Given the description of an element on the screen output the (x, y) to click on. 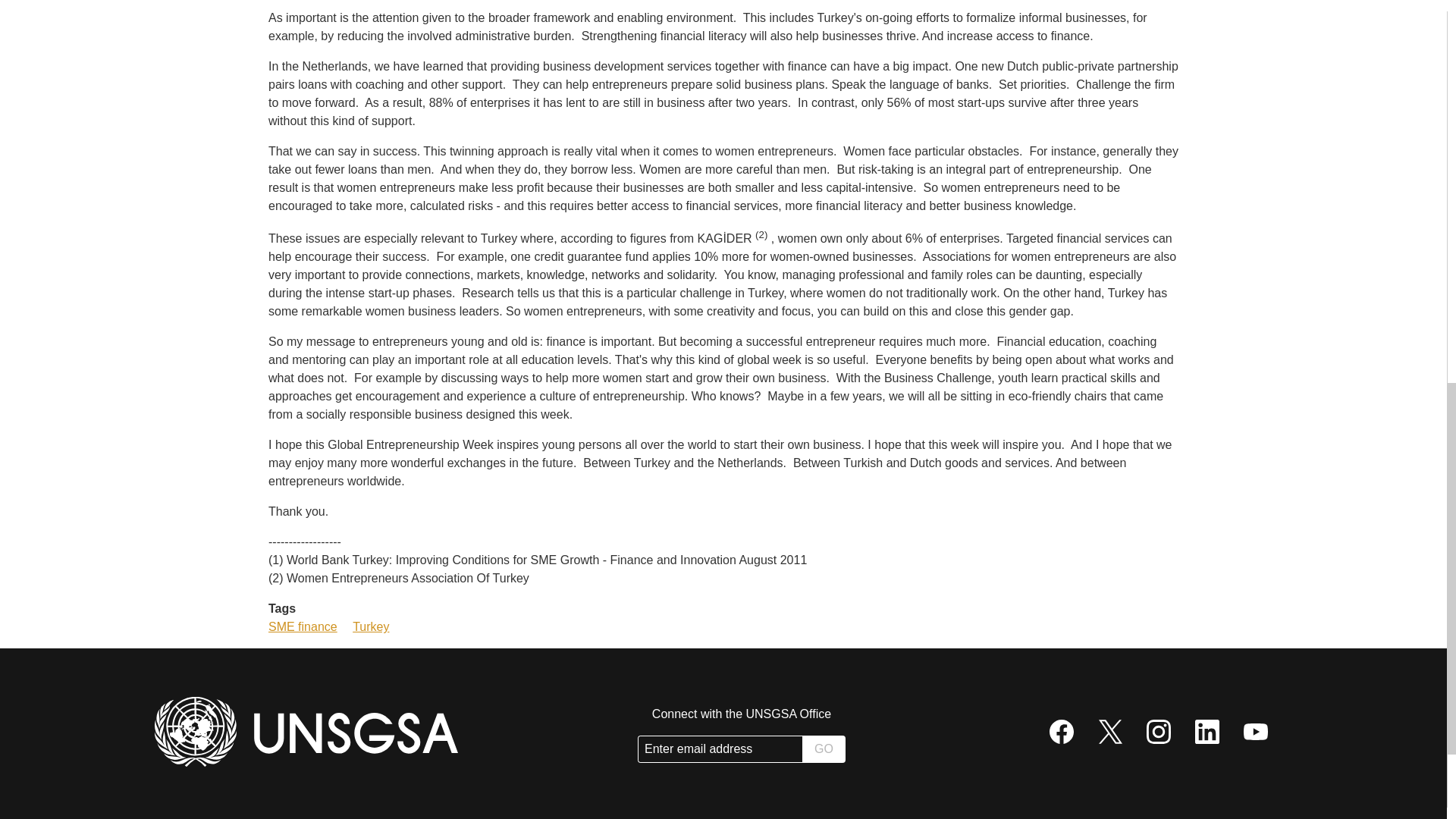
GO (823, 748)
Facebook (1061, 731)
Email (720, 749)
Twitter (1109, 731)
UNSGSA home page (306, 731)
YouTube (1255, 731)
LinkedIn (1207, 731)
Instagram (1158, 731)
